Given the description of an element on the screen output the (x, y) to click on. 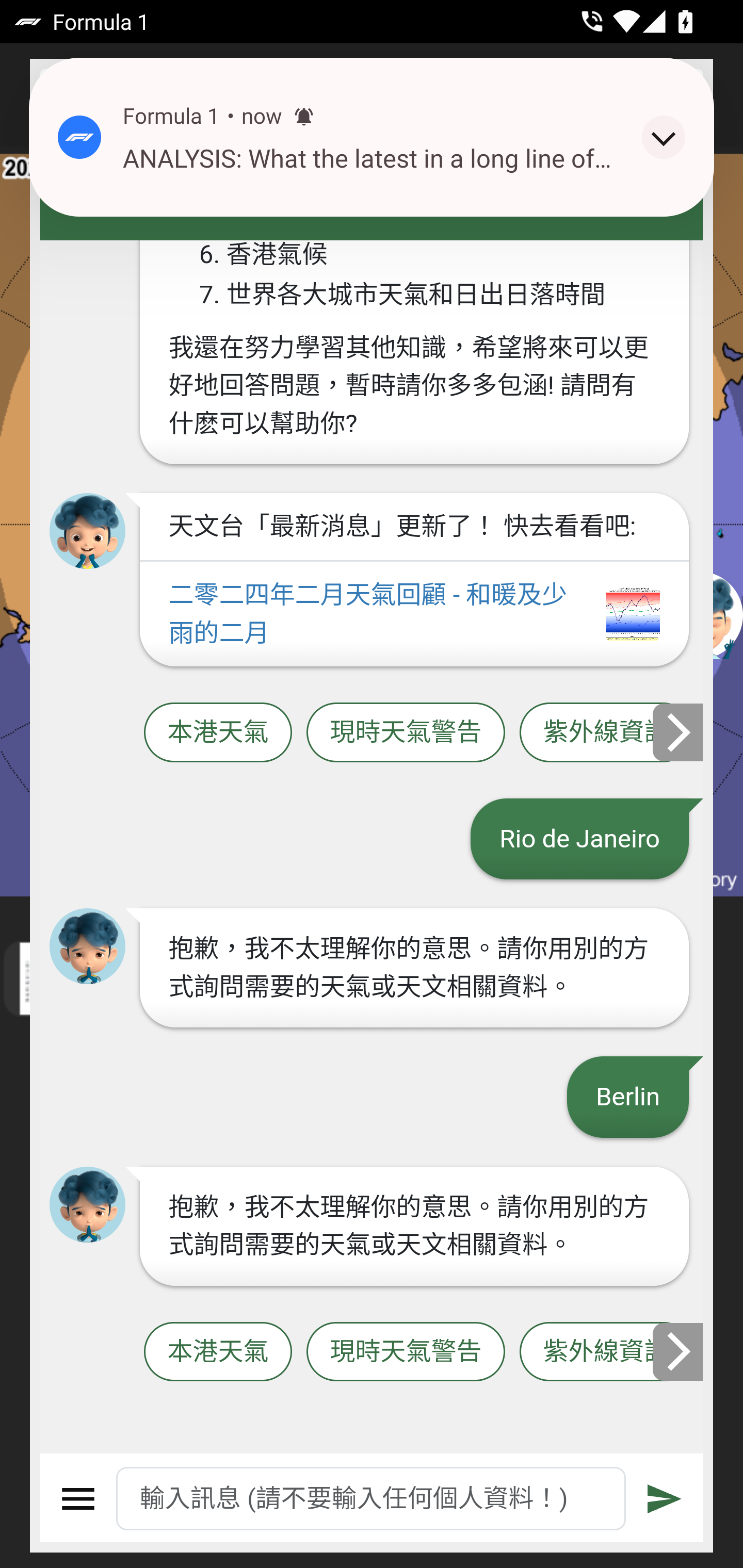
二零二四年二月天氣回顧 - 和暖及少雨的二月 (413, 614)
本港天氣 (217, 732)
現時天氣警告 (405, 732)
紫外線資訊 (605, 732)
下一張 (678, 732)
本港天氣 (217, 1351)
現時天氣警告 (405, 1351)
紫外線資訊 (605, 1351)
下一張 (678, 1351)
選單 (78, 1498)
遞交 (665, 1498)
